Given the description of an element on the screen output the (x, y) to click on. 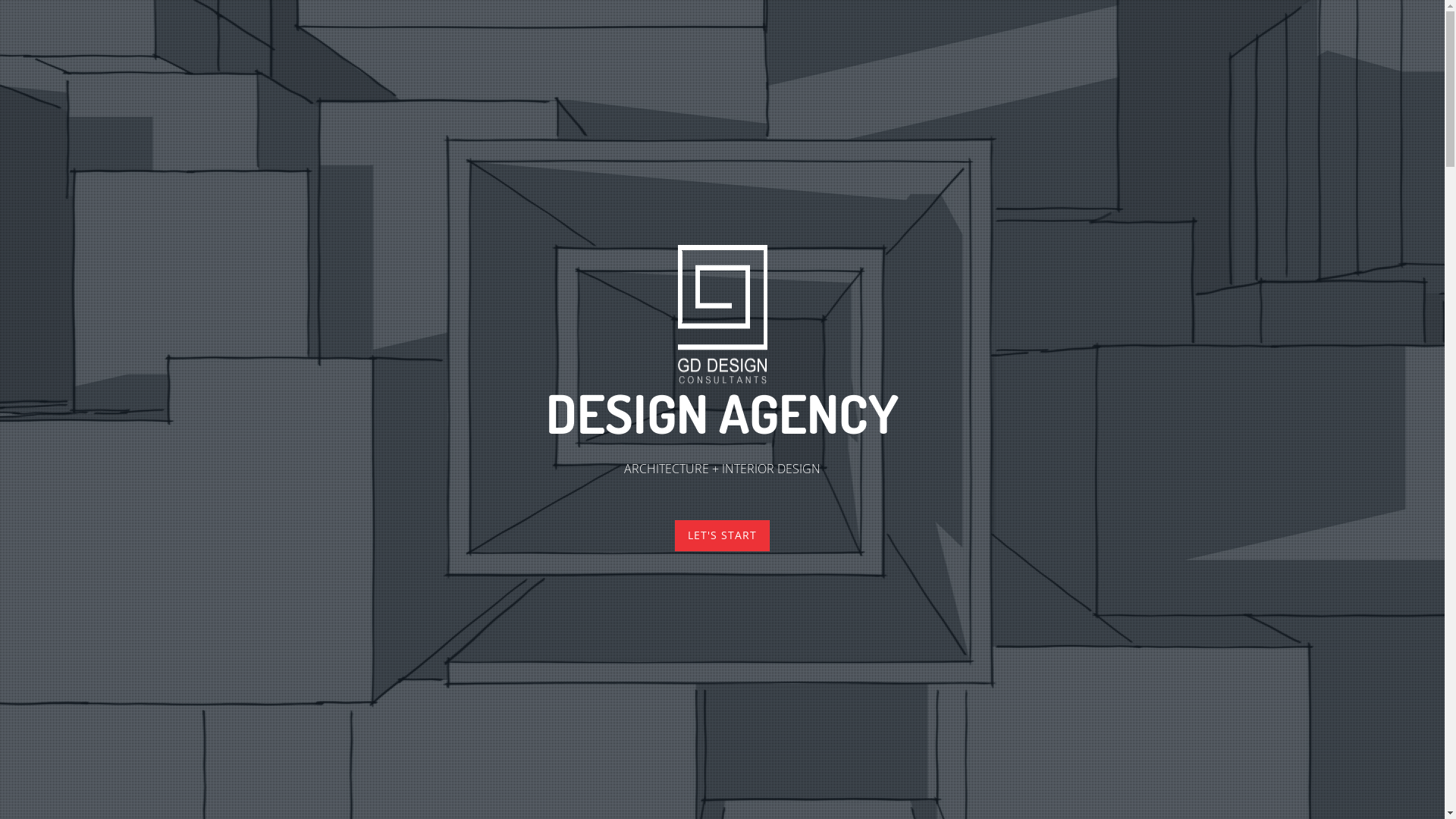
LET'S START Element type: text (721, 535)
